Given the description of an element on the screen output the (x, y) to click on. 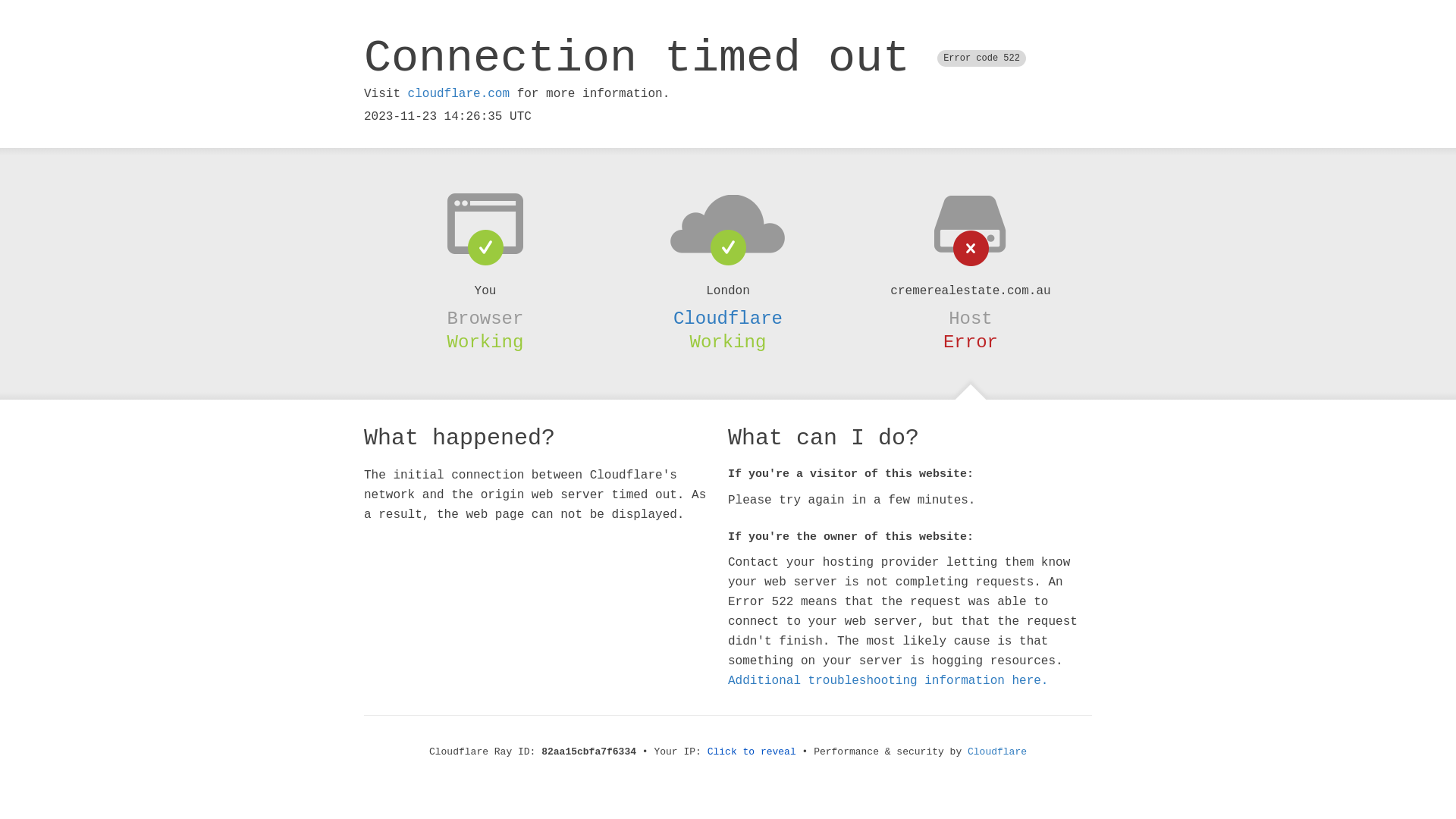
Click to reveal Element type: text (751, 751)
Additional troubleshooting information here. Element type: text (888, 680)
Cloudflare Element type: text (996, 751)
cloudflare.com Element type: text (458, 93)
Cloudflare Element type: text (727, 318)
